Given the description of an element on the screen output the (x, y) to click on. 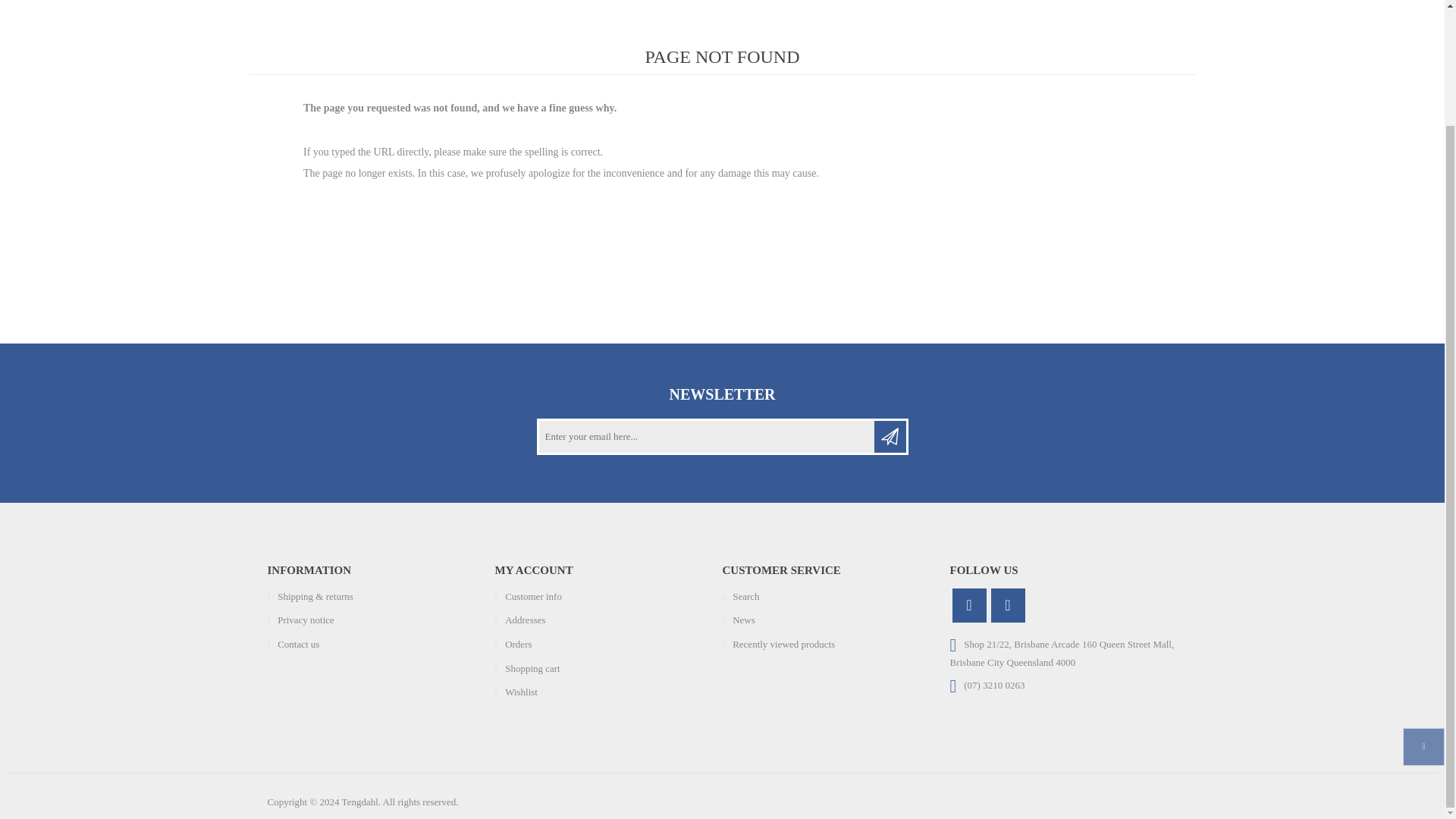
Subscribe (889, 436)
Shopping cart (532, 668)
Addresses (524, 619)
Recently viewed products (783, 644)
Search (745, 595)
News (743, 619)
Wishlist (521, 691)
Orders (518, 644)
Privacy notice (306, 619)
Contact us (298, 644)
Customer info (533, 595)
